Given the description of an element on the screen output the (x, y) to click on. 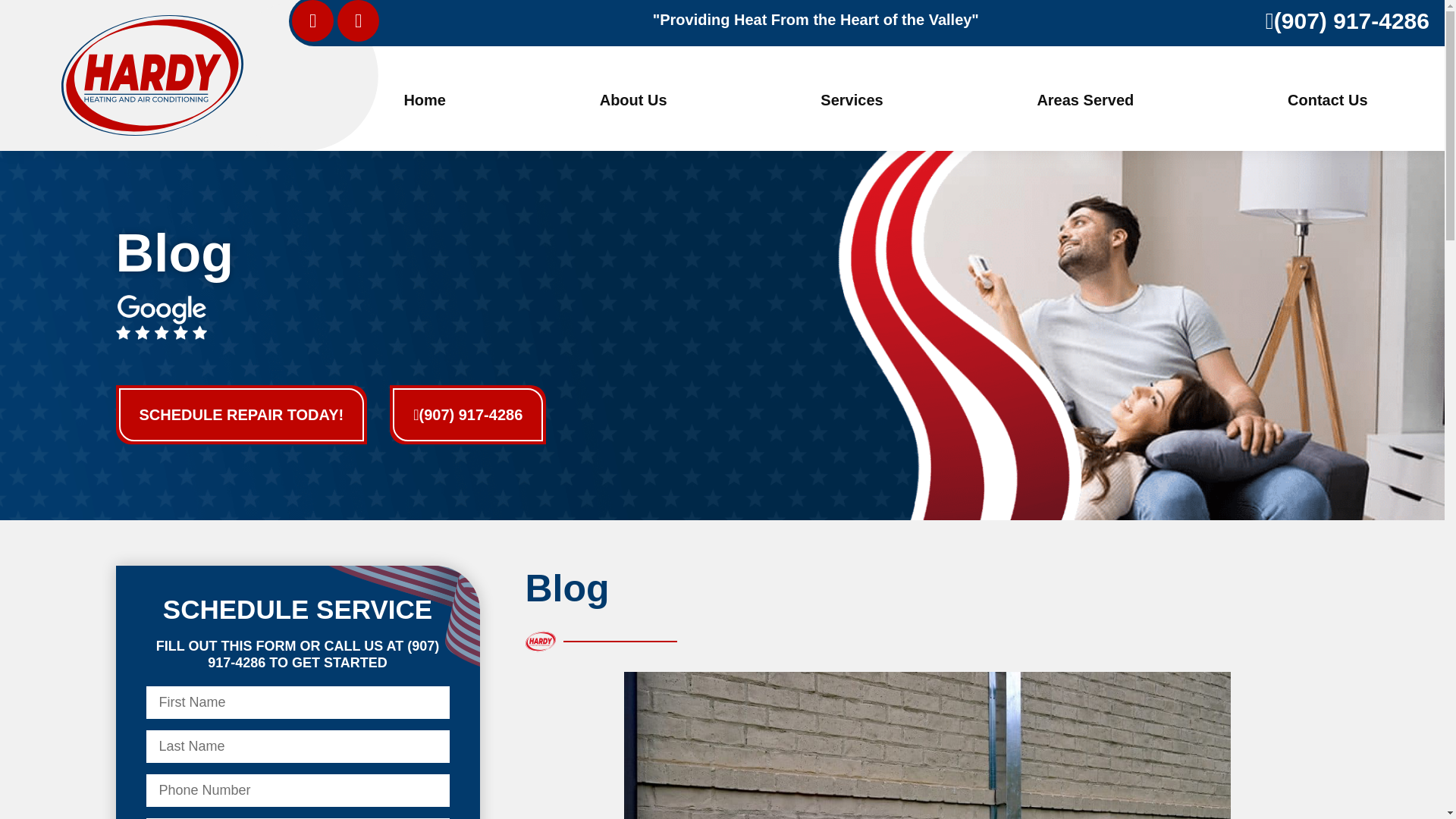
Home (424, 99)
About Us (633, 99)
Areas Served (1085, 99)
Services (851, 99)
